Given the description of an element on the screen output the (x, y) to click on. 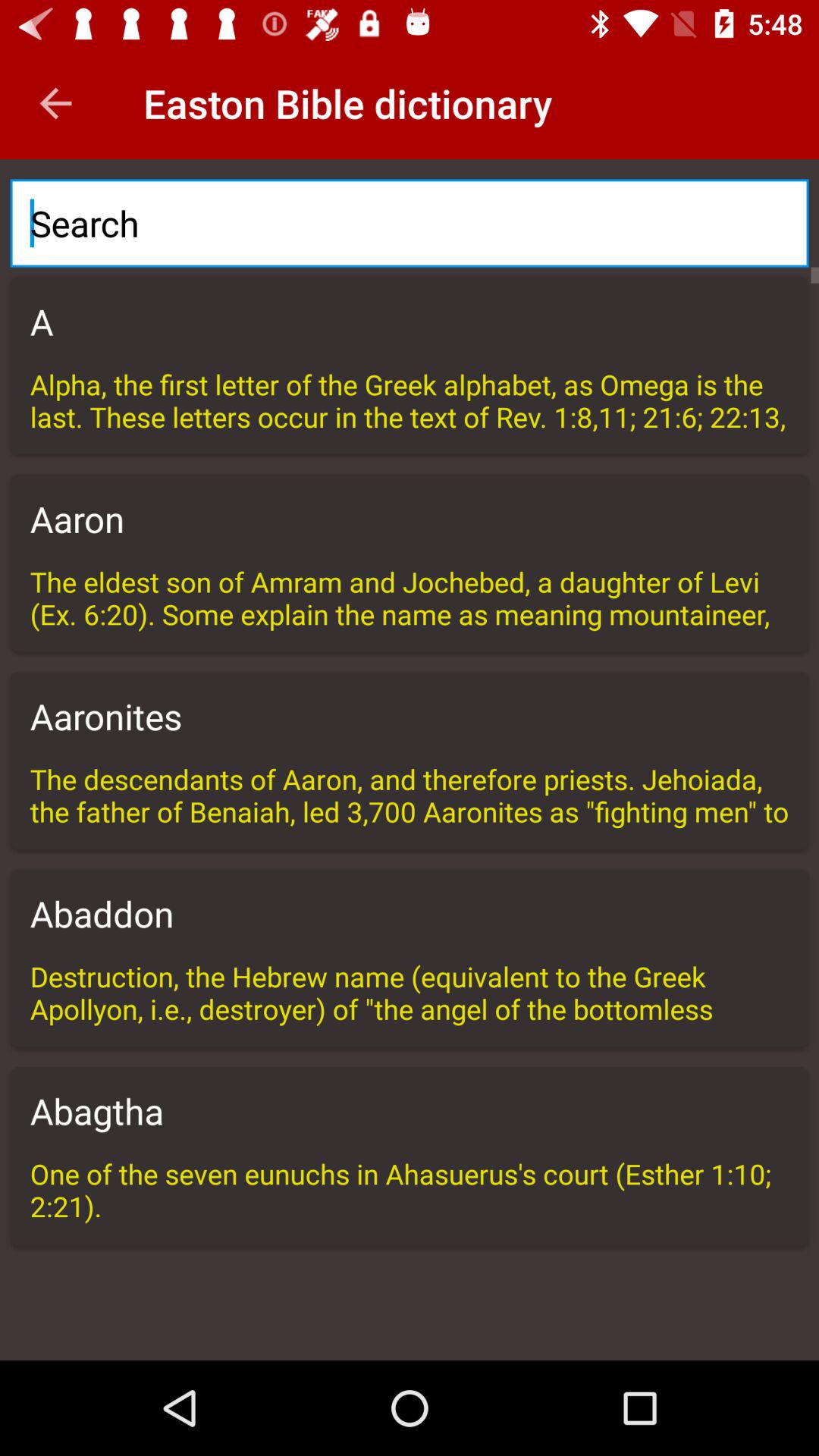
tap the the eldest son icon (409, 597)
